Given the description of an element on the screen output the (x, y) to click on. 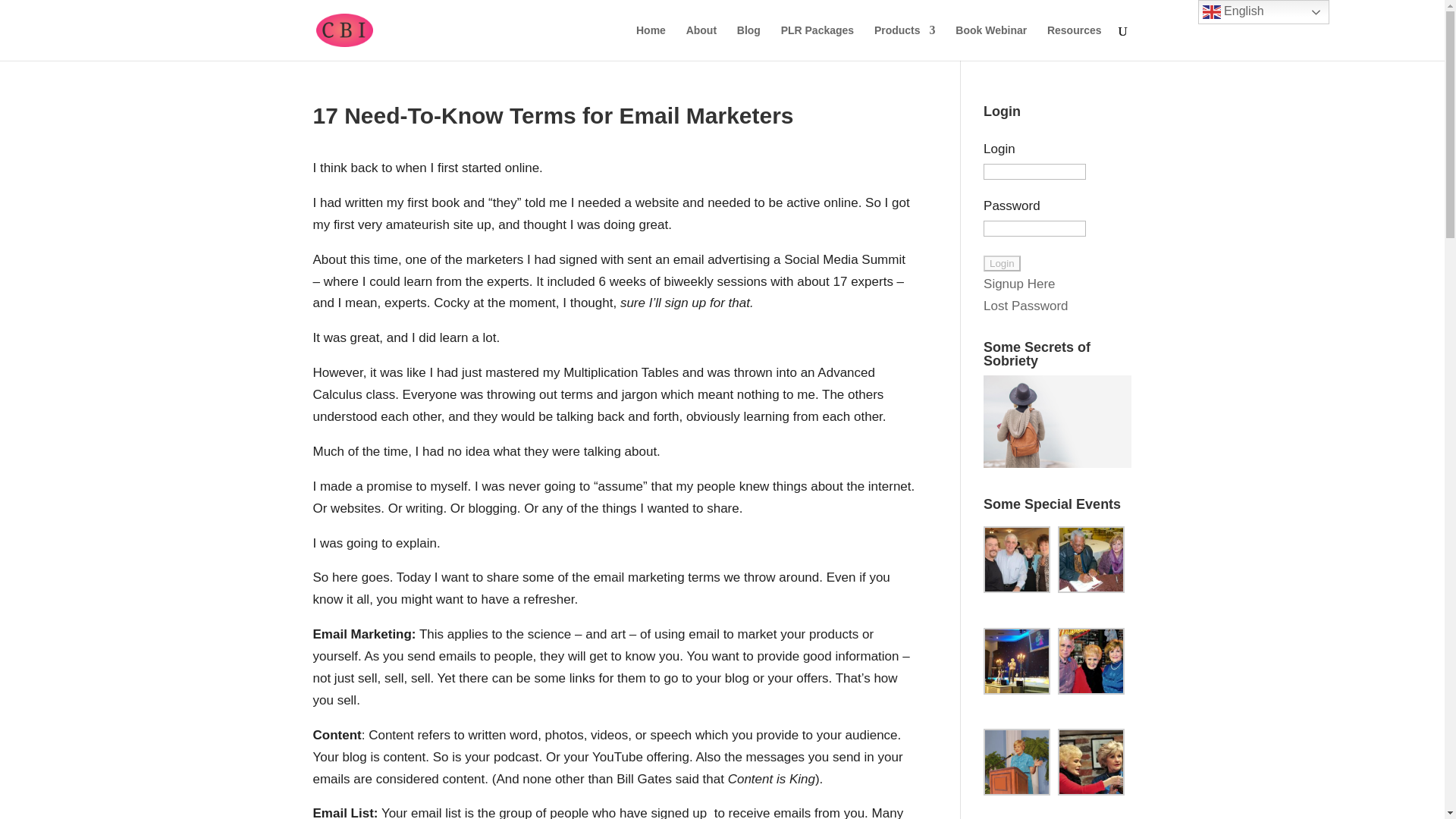
Lost Password (1026, 305)
Book Webinar (990, 42)
Signup Here (1019, 283)
Login (1002, 263)
Login (1002, 263)
PLR Packages (817, 42)
Products (905, 42)
Resources (1074, 42)
